Given the description of an element on the screen output the (x, y) to click on. 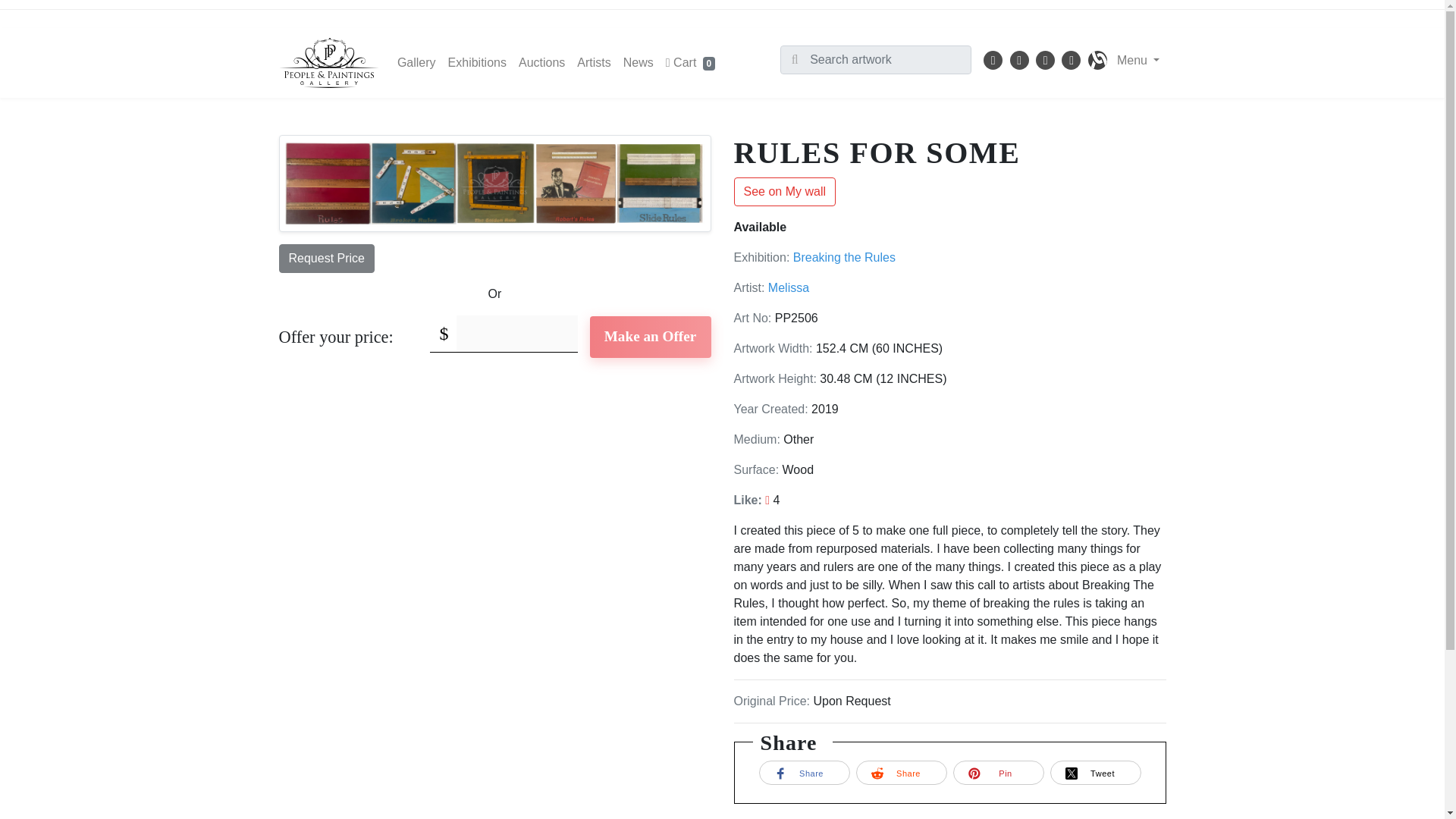
Cart 0 (689, 62)
Menu (1138, 60)
Request Price (327, 258)
Exhibitions (477, 62)
Search (794, 59)
Auctions (541, 62)
Artists (592, 62)
News (638, 62)
Gallery (416, 62)
